Given the description of an element on the screen output the (x, y) to click on. 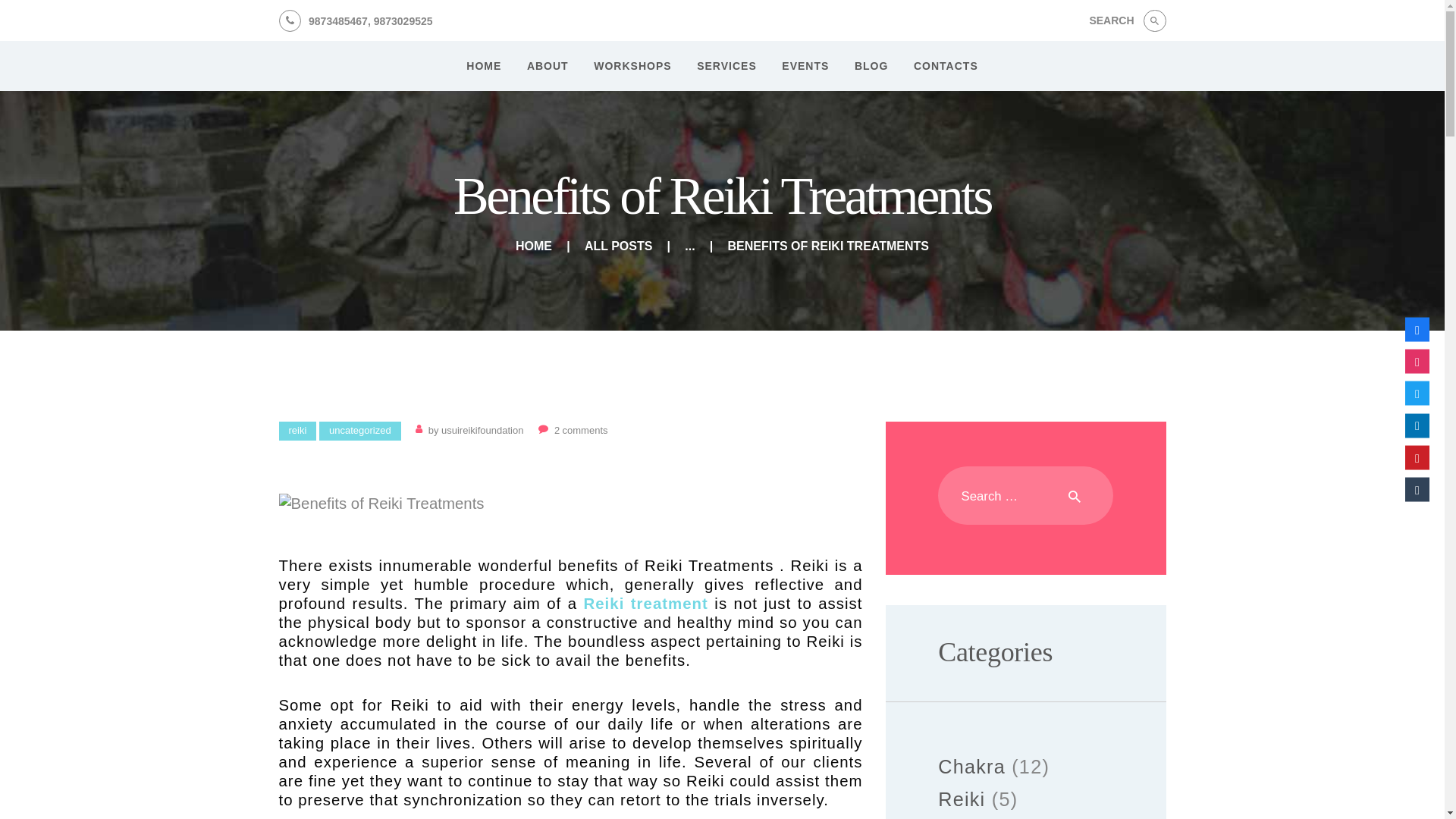
EVENTS (806, 66)
HOME (533, 246)
Facebook (1417, 329)
ABOUT (546, 66)
HOME (482, 66)
ALL POSTS (618, 245)
SERVICES (726, 66)
CONTACTS (945, 66)
Twitter (1417, 393)
9873485467, 9873029525 (355, 20)
Pinterest (1417, 457)
LinkedIn (1417, 425)
Instagram (1417, 361)
BLOG (871, 66)
WORKSHOPS (632, 66)
